Given the description of an element on the screen output the (x, y) to click on. 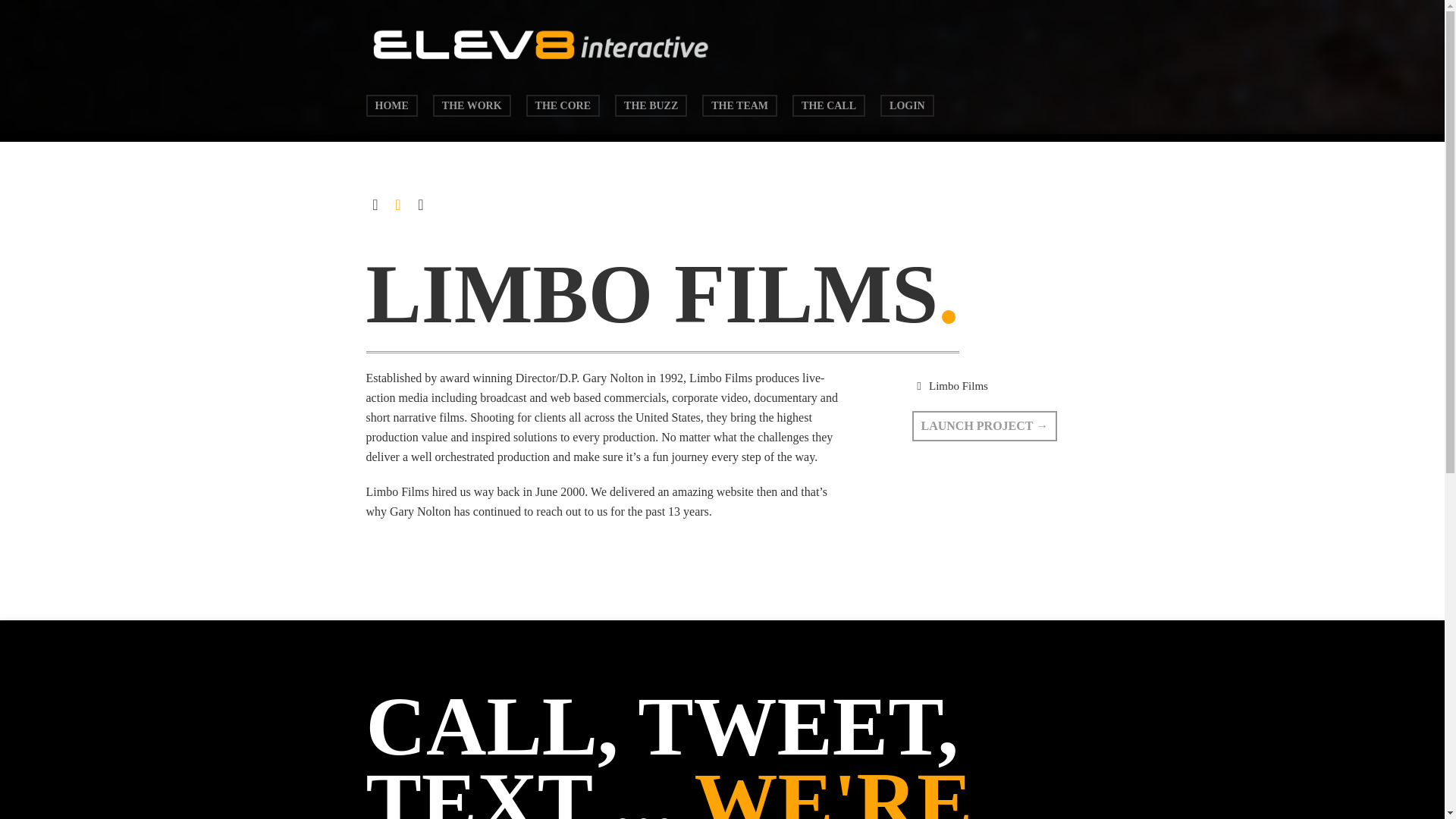
ELEV8 interactive (539, 66)
HOME (390, 106)
THE CORE (562, 106)
THE TEAM (739, 106)
THE WORK (471, 106)
THE CALL (828, 106)
LOGIN (907, 106)
THE BUZZ (650, 106)
